Given the description of an element on the screen output the (x, y) to click on. 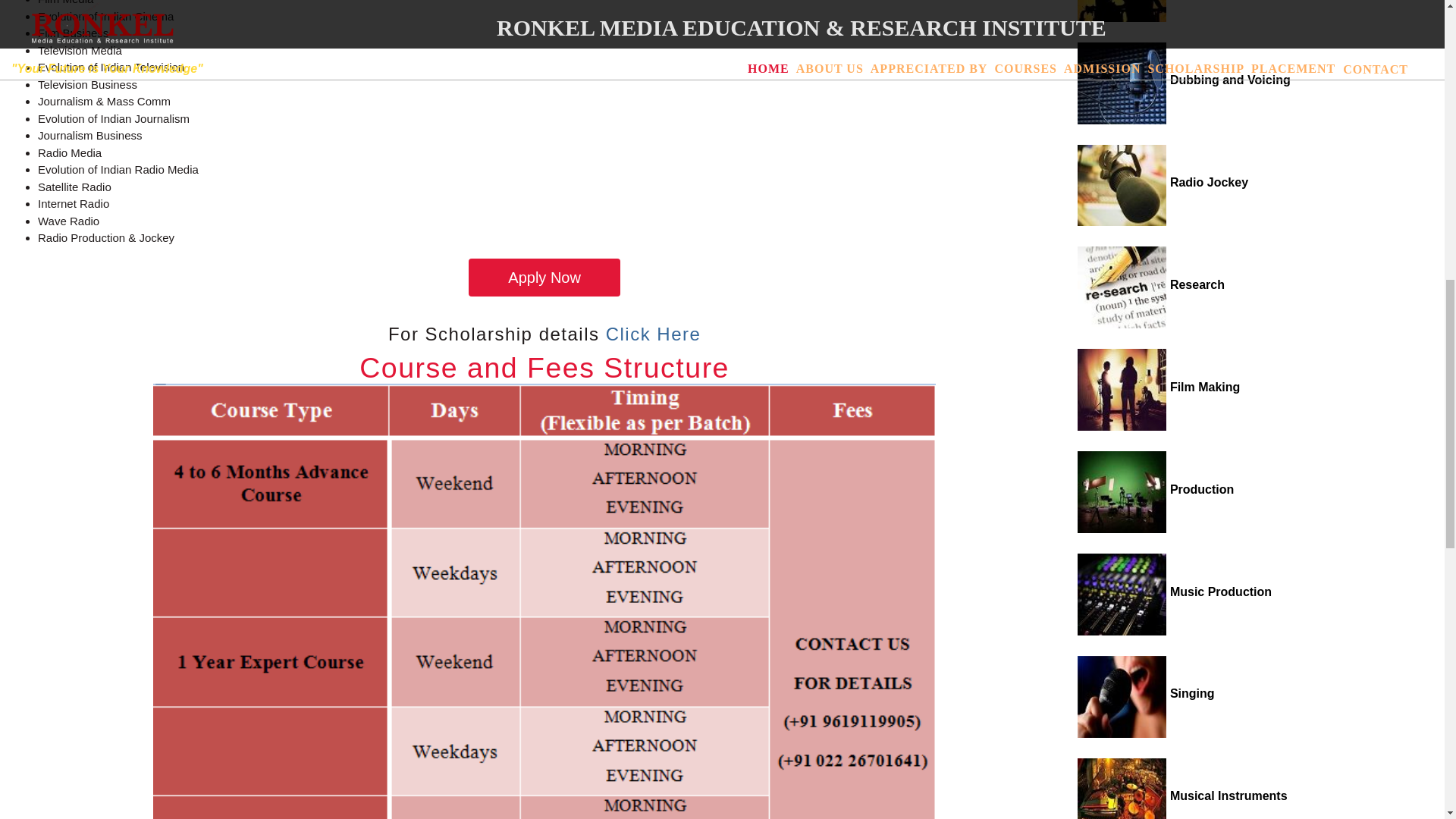
Dubbing and Voicing (1183, 79)
film making courses (1158, 386)
Production (1155, 489)
Film Making (1158, 386)
Singing (1145, 693)
Apply Now (544, 278)
Music Production Courses (1174, 591)
Radio Jockey (1162, 182)
Research (1150, 284)
Music Production (1174, 591)
